Given the description of an element on the screen output the (x, y) to click on. 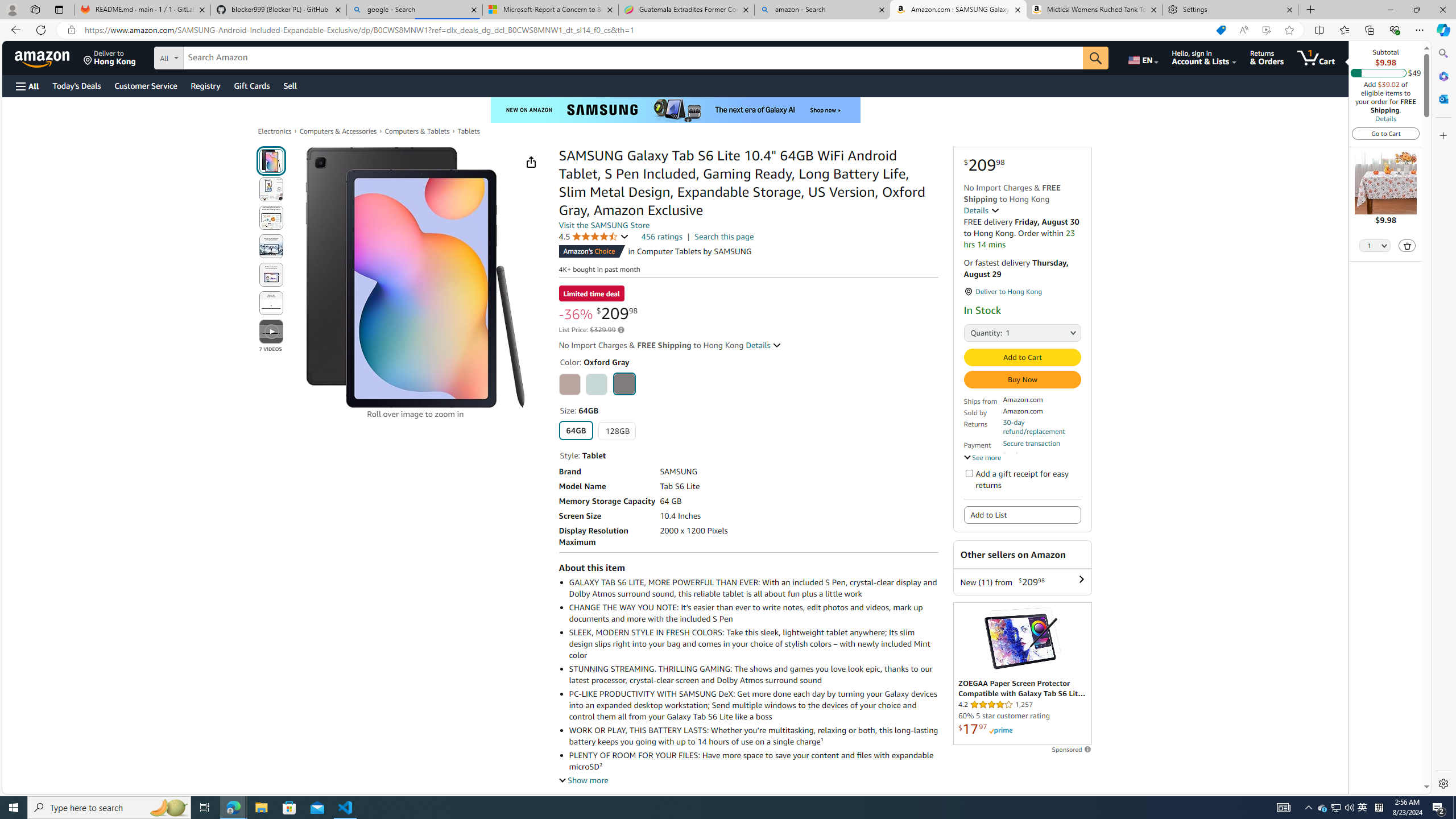
Today's Deals (76, 85)
Choose a language for shopping. (1142, 57)
Add a gift receipt for easy returns (968, 473)
Enhance video (1266, 29)
Galaxy AI is here (675, 109)
Galaxy AI is here (675, 109)
Oxford Gray (623, 383)
